Given the description of an element on the screen output the (x, y) to click on. 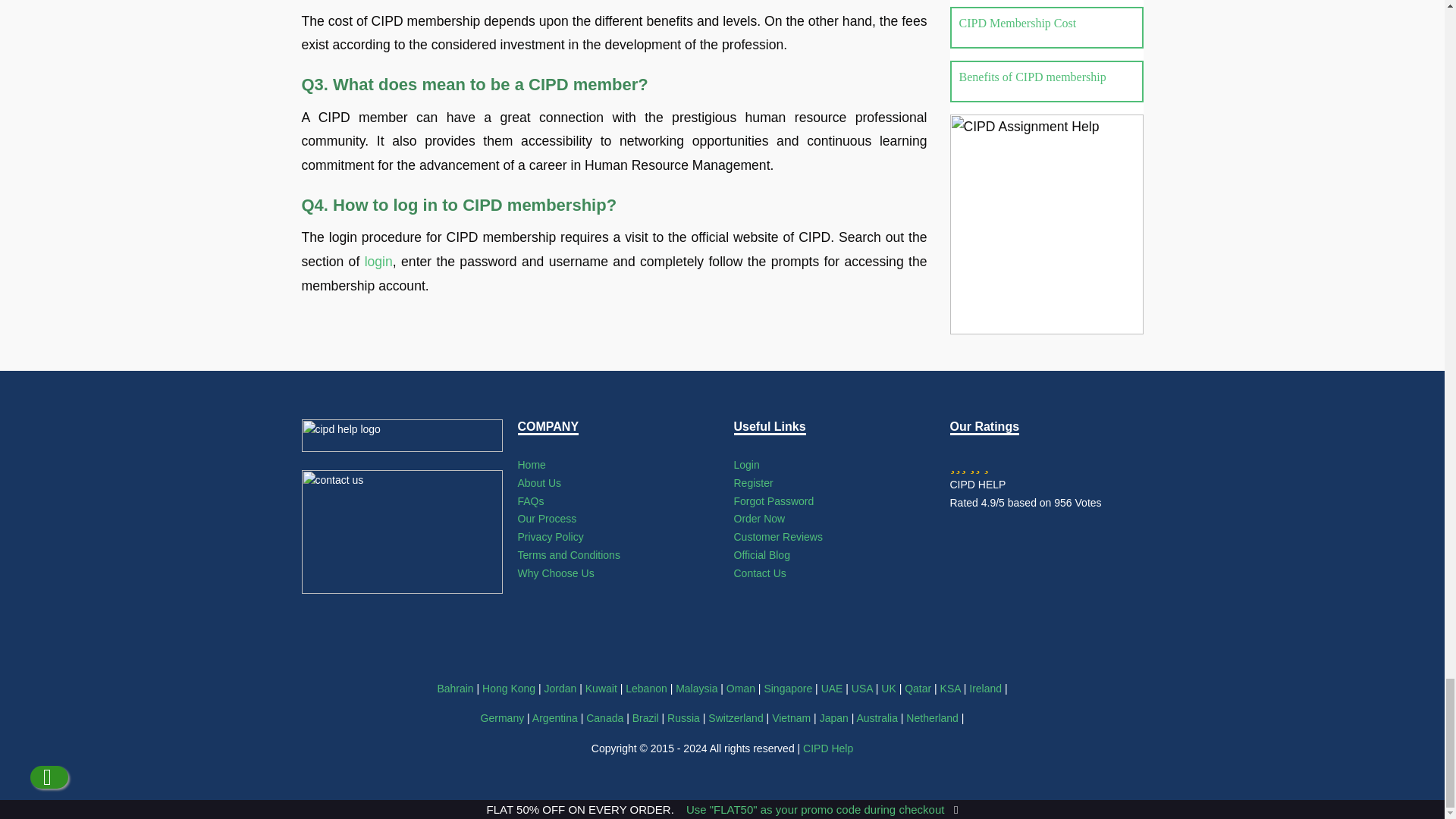
Our Process (546, 518)
Terms and Conditions (568, 554)
Order Now (759, 518)
Why Choose Us (555, 573)
Register (753, 482)
FAQs (529, 500)
login (379, 261)
Login (746, 464)
Privacy Policy (549, 536)
Forgot Password (773, 500)
Home (530, 464)
About Us (538, 482)
